Given the description of an element on the screen output the (x, y) to click on. 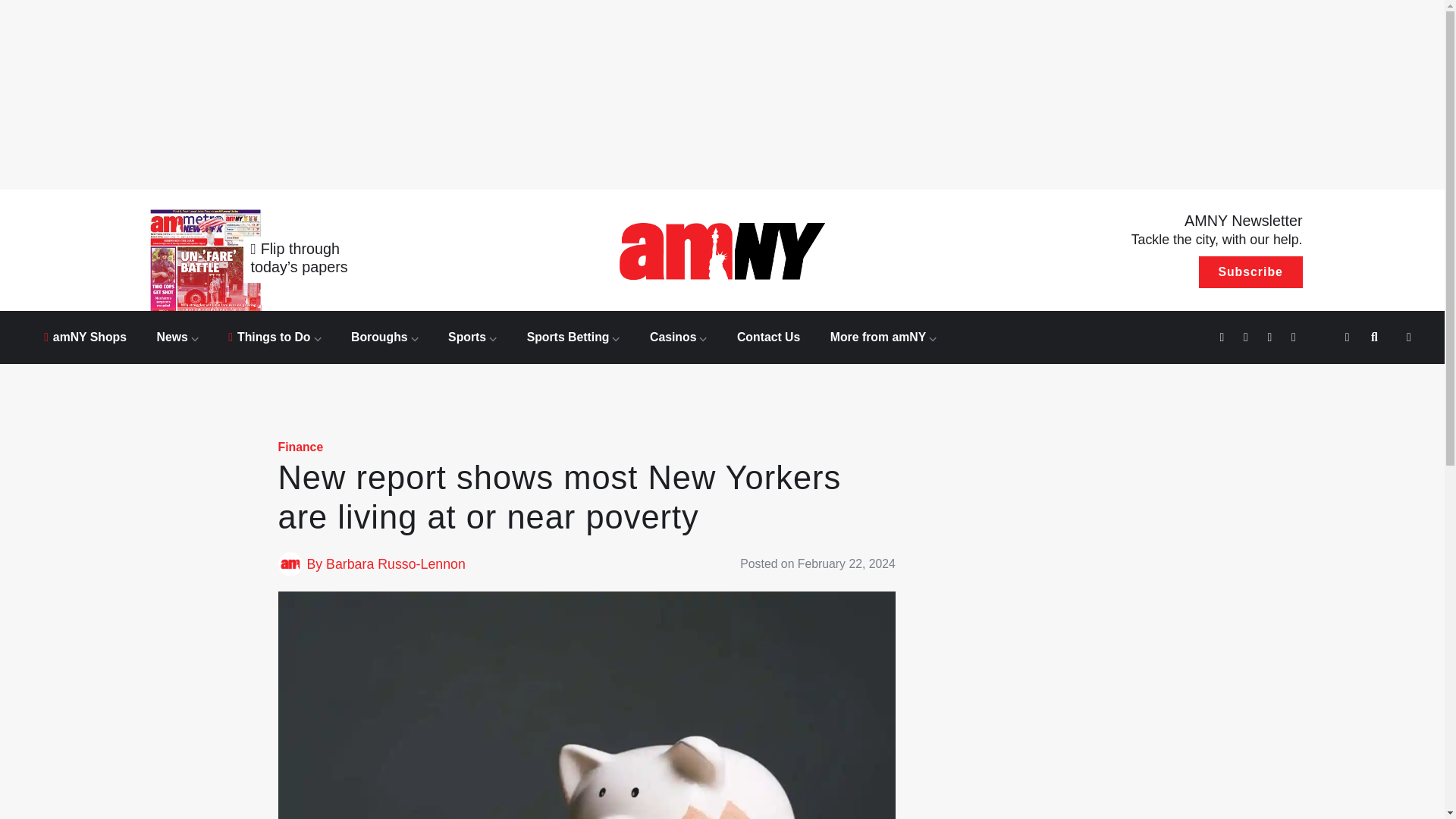
Subscribe (1250, 272)
amNY Shops (84, 336)
Things to Do (274, 336)
Sports (472, 336)
Posts by Barbara Russo-Lennon (395, 563)
Boroughs (384, 336)
News (176, 336)
